Given the description of an element on the screen output the (x, y) to click on. 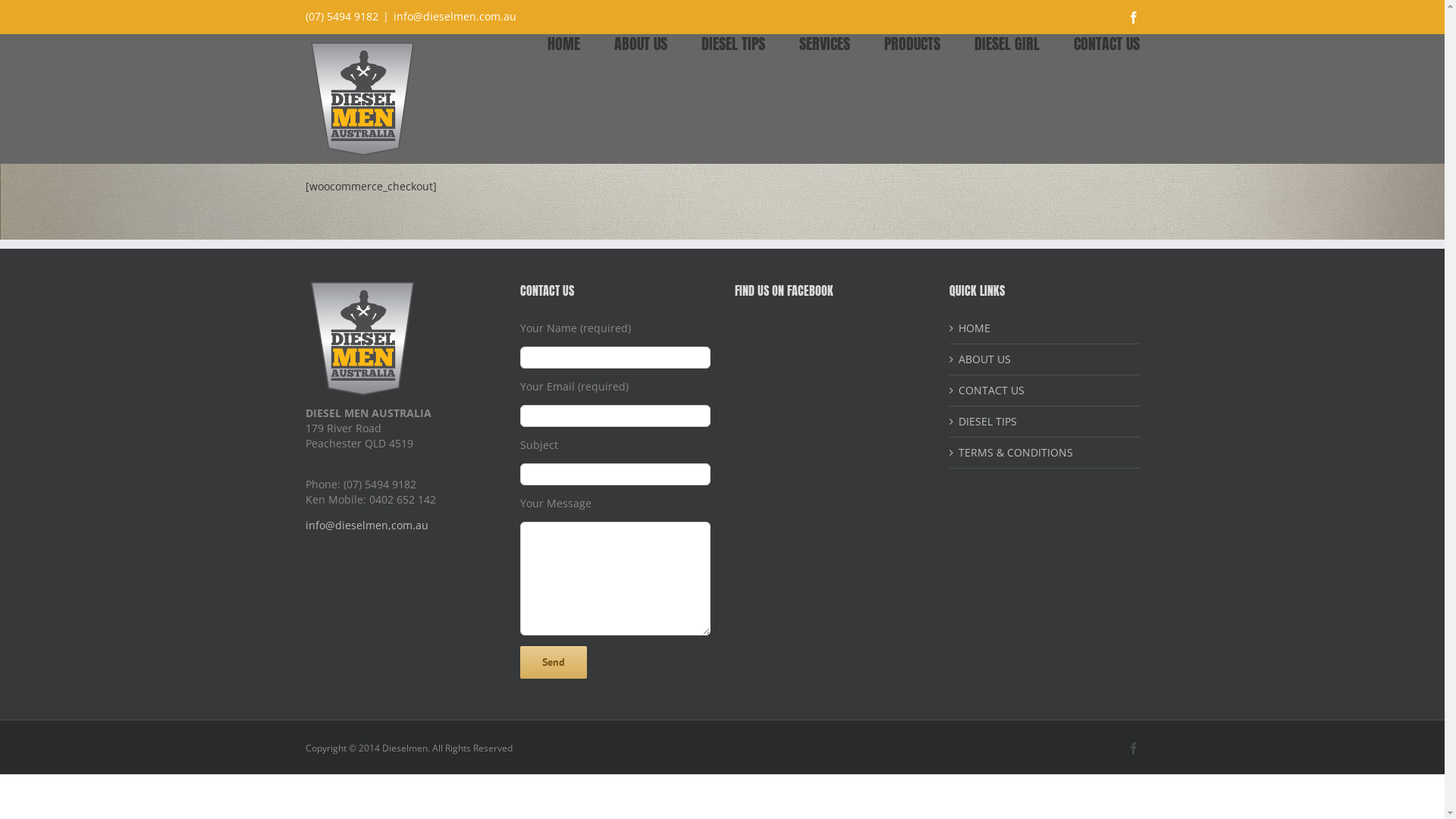
ABOUT US Element type: text (1045, 359)
CONTACT US Element type: text (1106, 42)
HOME Element type: text (1045, 327)
DIESEL GIRL Element type: text (1005, 42)
TERMS & CONDITIONS Element type: text (1045, 452)
DIESEL TIPS Element type: text (1045, 421)
info@dieselmen.com.au Element type: text (453, 16)
CONTACT US Element type: text (1045, 390)
Facebook Element type: text (1132, 748)
ABOUT US Element type: text (640, 42)
Send Element type: text (553, 662)
DIESEL TIPS Element type: text (732, 42)
Facebook Element type: text (1132, 16)
SERVICES Element type: text (824, 42)
PRODUCTS Element type: text (912, 42)
info@dieselmen,com.au Element type: text (365, 524)
HOME Element type: text (563, 42)
